Given the description of an element on the screen output the (x, y) to click on. 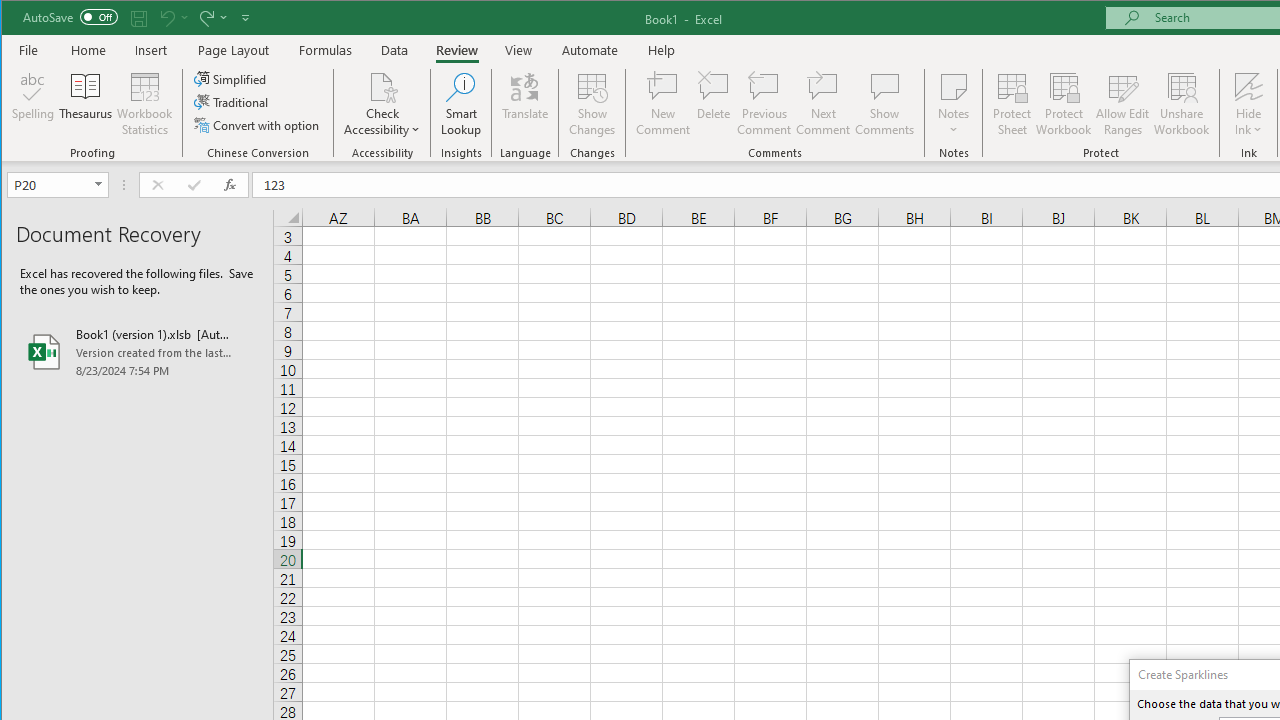
Delete (713, 104)
Show Comments (884, 104)
Protect Workbook... (1064, 104)
Traditional (232, 101)
Translate (525, 104)
Convert with option (258, 124)
Workbook Statistics (145, 104)
